Given the description of an element on the screen output the (x, y) to click on. 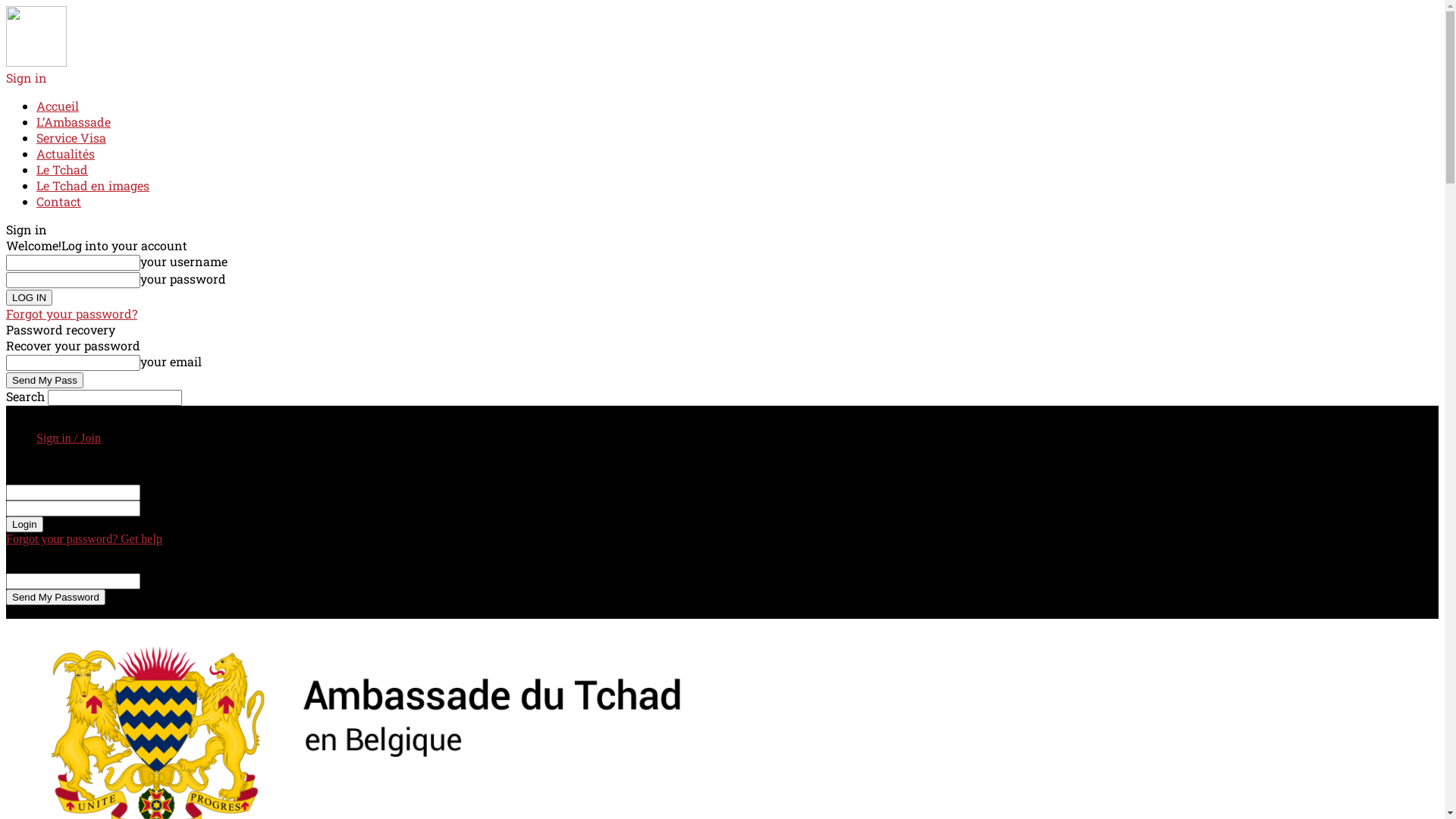
Contact Element type: text (58, 201)
Sign in / Join Element type: text (68, 437)
Le Tchad en images Element type: text (92, 185)
Accueil Element type: text (57, 105)
Sign in Element type: text (26, 77)
Forgot your password? Element type: text (71, 313)
Service Visa Element type: text (71, 137)
Le Tchad Element type: text (61, 169)
Forgot your password? Get help Element type: text (84, 538)
